Given the description of an element on the screen output the (x, y) to click on. 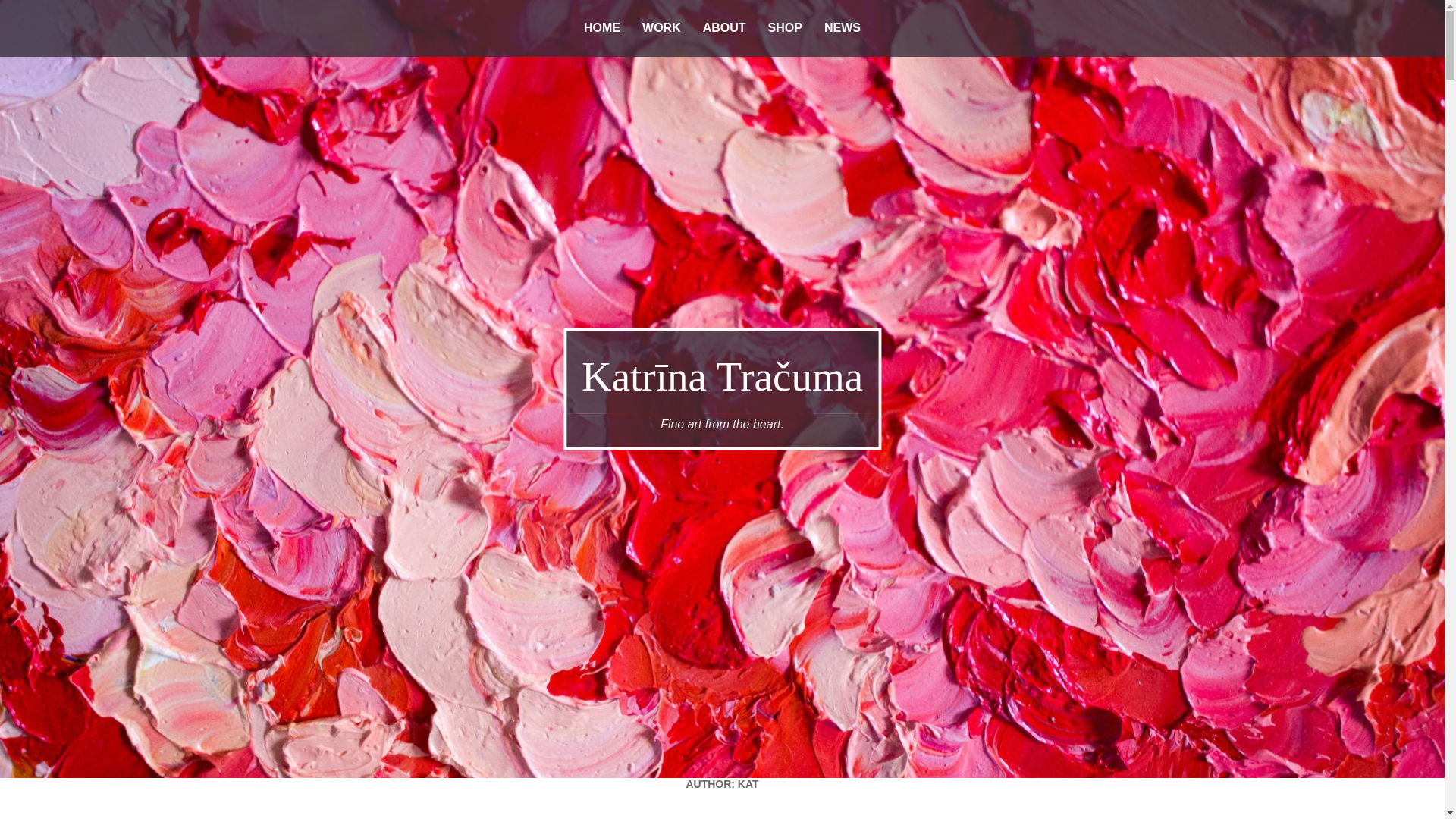
SHOP (784, 28)
WORK (661, 28)
NEWS (842, 28)
ABOUT (724, 28)
HOME (601, 28)
